Given the description of an element on the screen output the (x, y) to click on. 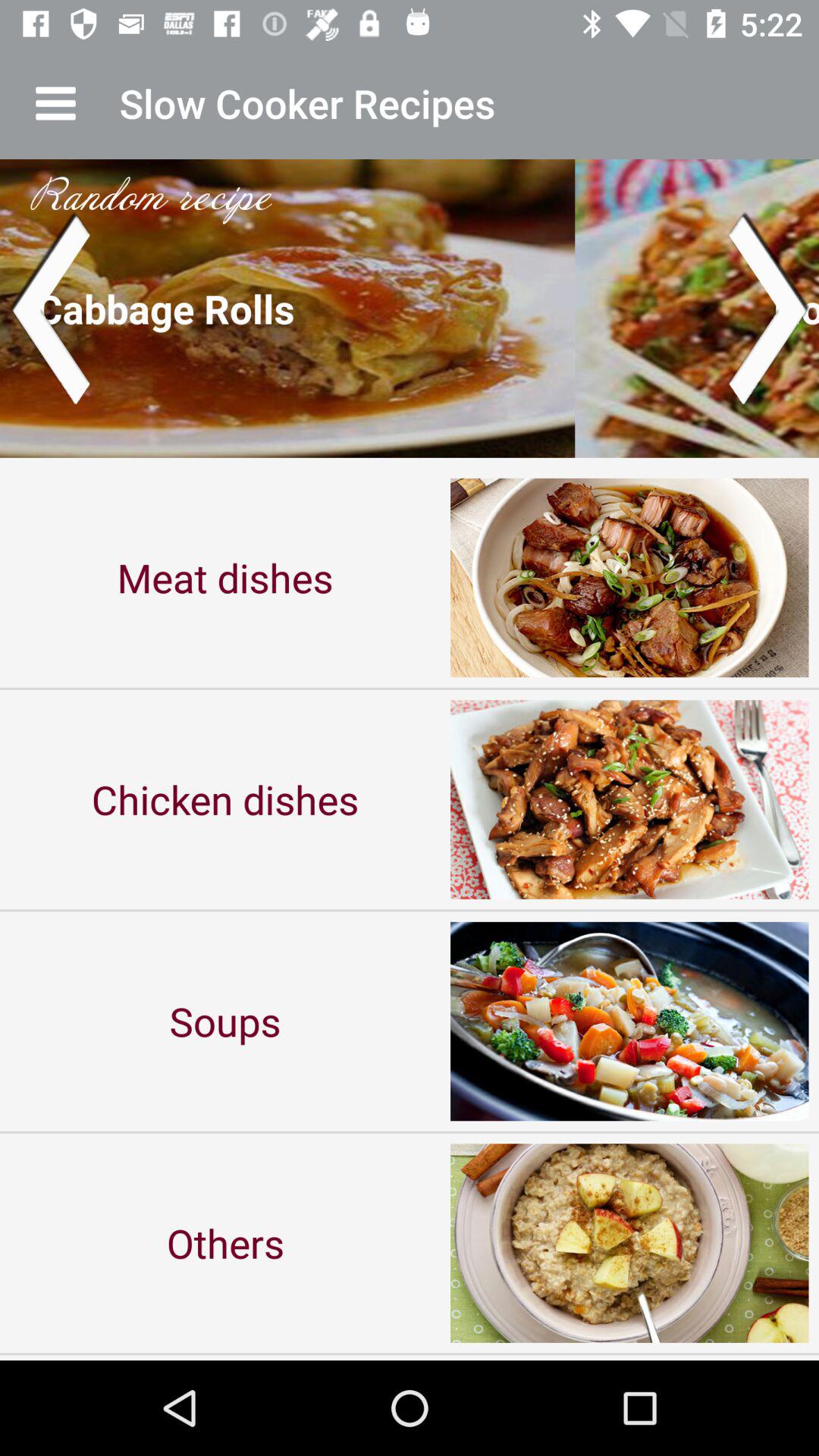
turn on item below the chicken dishes item (225, 1020)
